Given the description of an element on the screen output the (x, y) to click on. 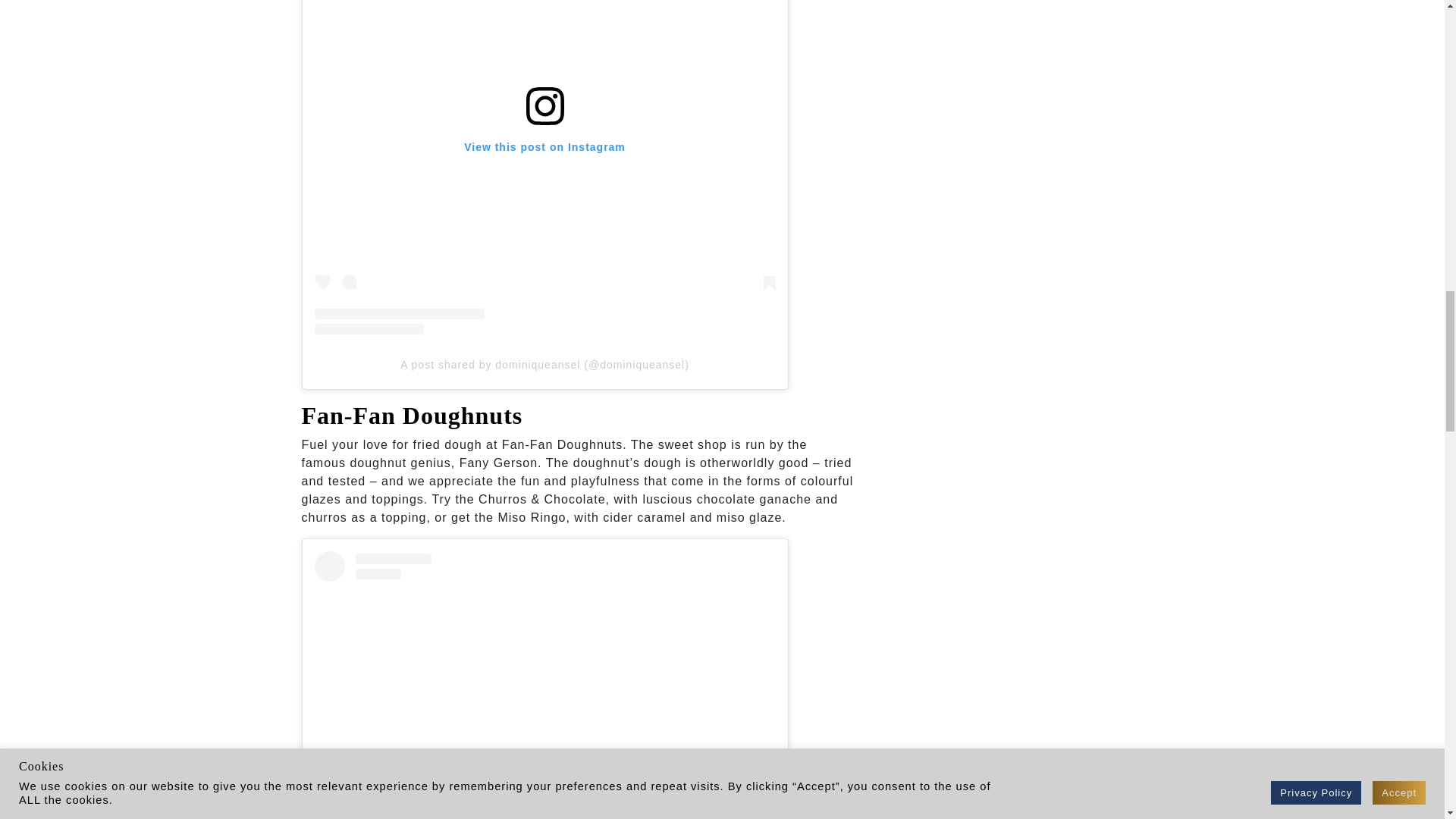
View this post on Instagram (544, 685)
Fan-Fan Doughnuts (411, 415)
